Given the description of an element on the screen output the (x, y) to click on. 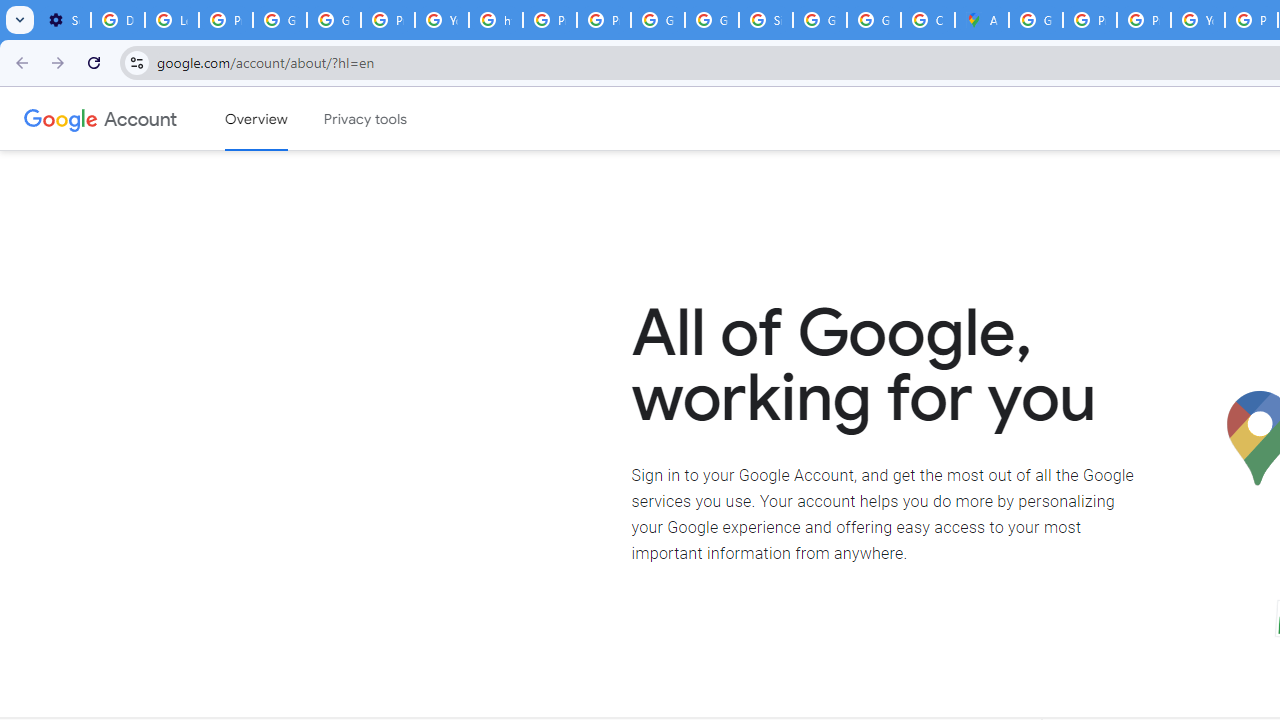
YouTube (441, 20)
